Given the description of an element on the screen output the (x, y) to click on. 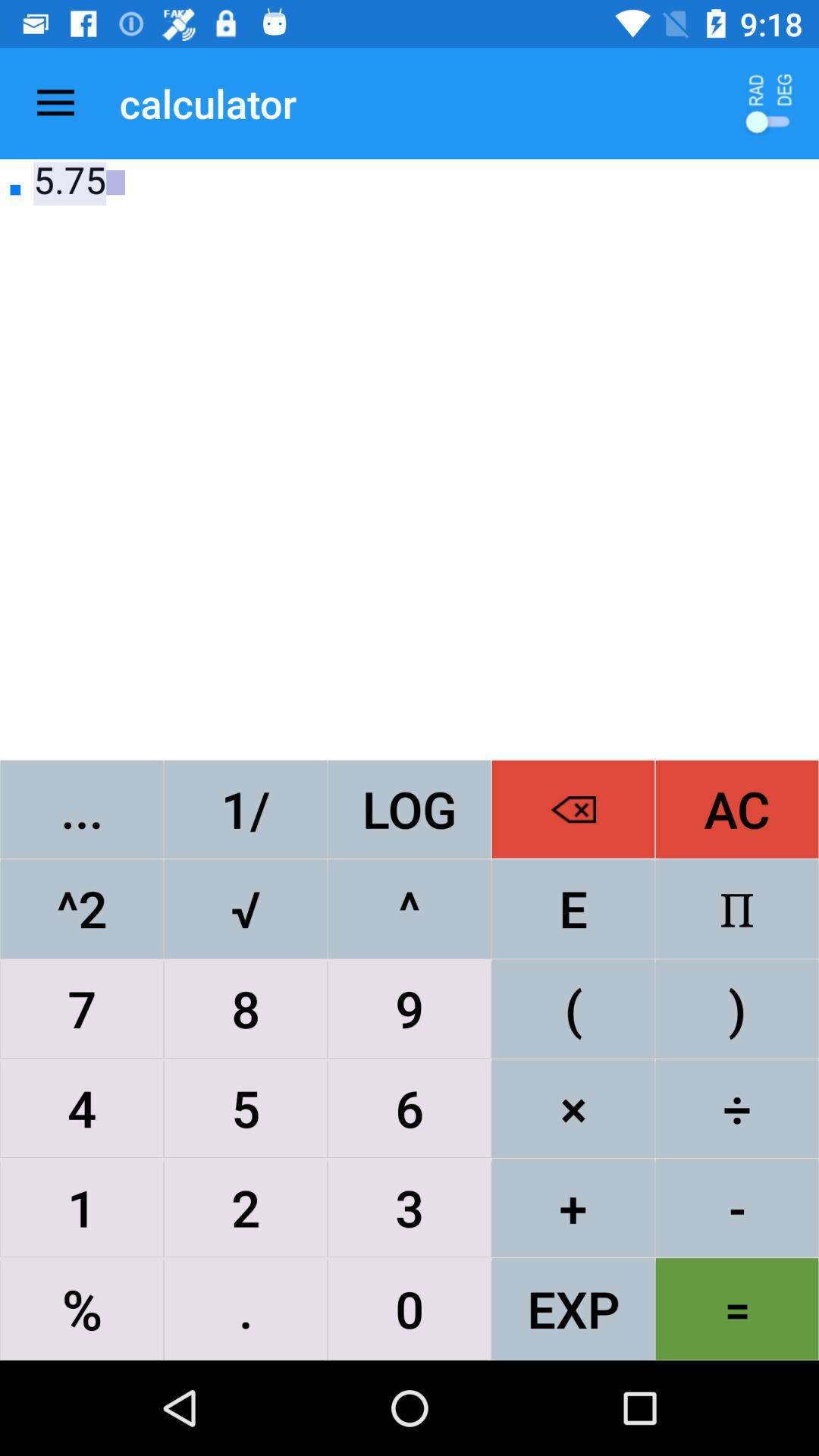
open item above the 9 item (572, 908)
